Given the description of an element on the screen output the (x, y) to click on. 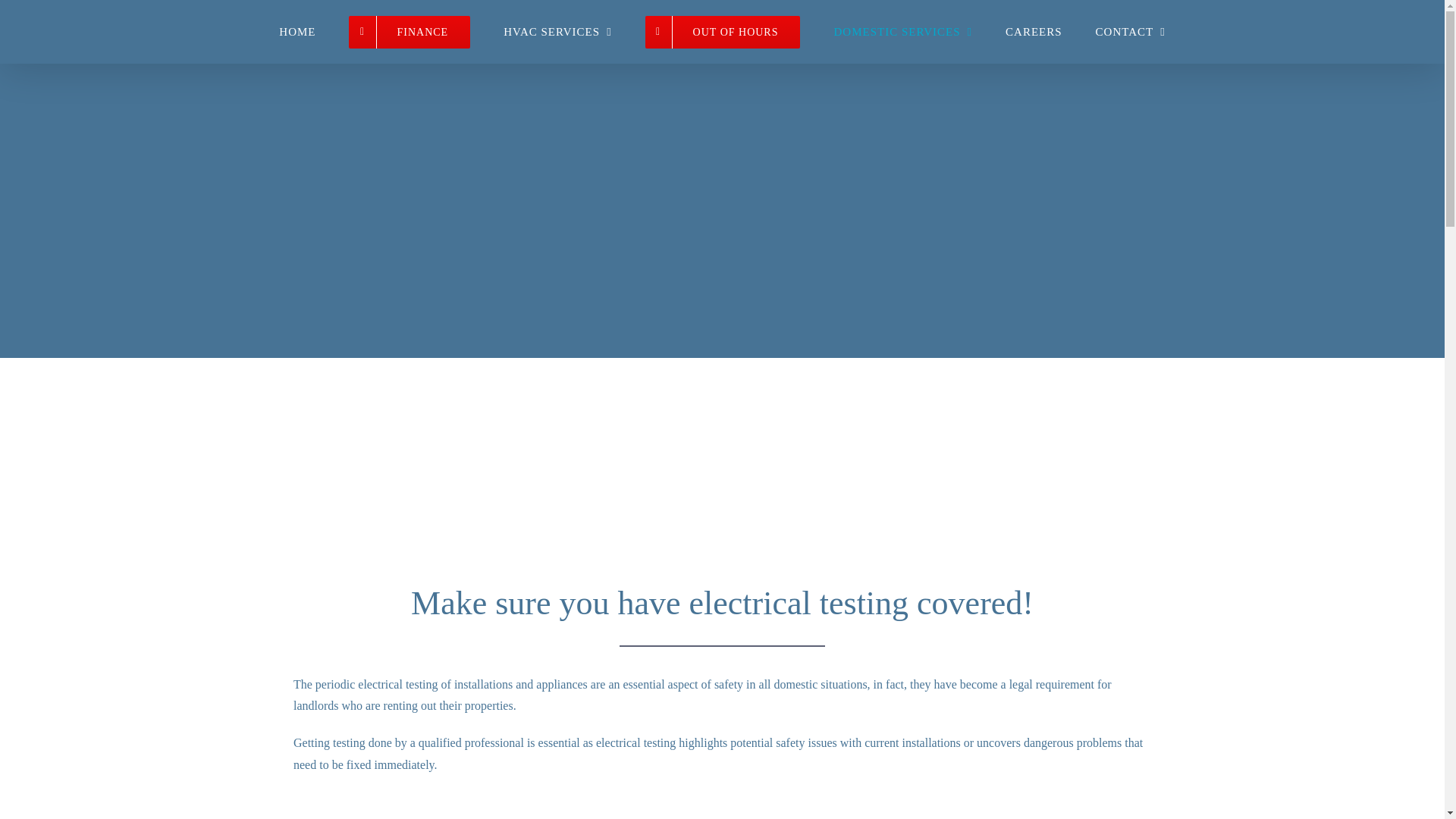
FINANCE (409, 31)
HVAC SERVICES (557, 31)
CAREERS (1034, 31)
DOMESTIC SERVICES (902, 31)
OUT OF HOURS (722, 31)
CONTACT (1131, 31)
